Given the description of an element on the screen output the (x, y) to click on. 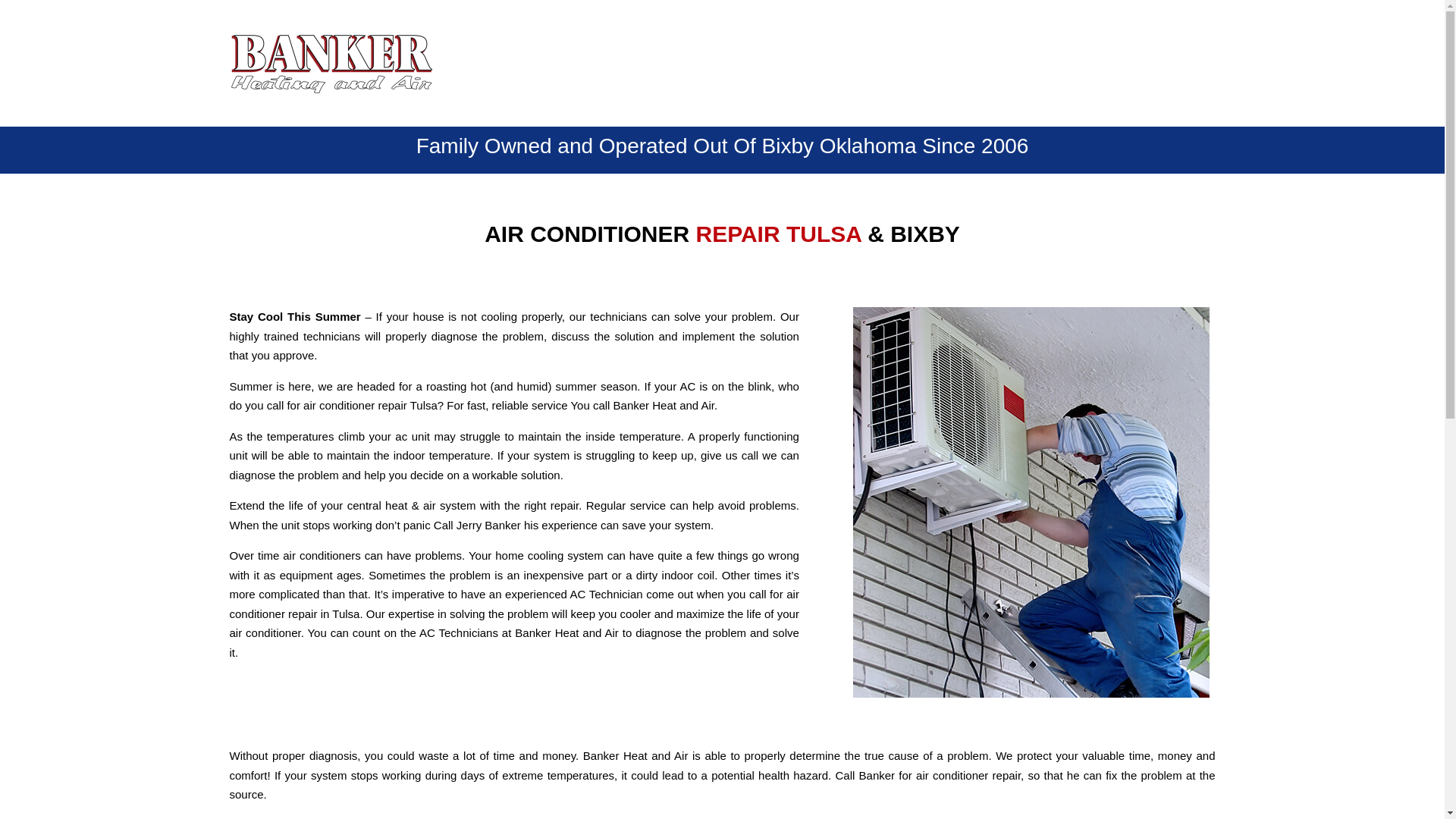
HVAC Service (967, 62)
Home (666, 62)
Contact (1122, 62)
HVAC Replacement (758, 62)
HVAC Repair (870, 62)
Reviews (1052, 62)
